Given the description of an element on the screen output the (x, y) to click on. 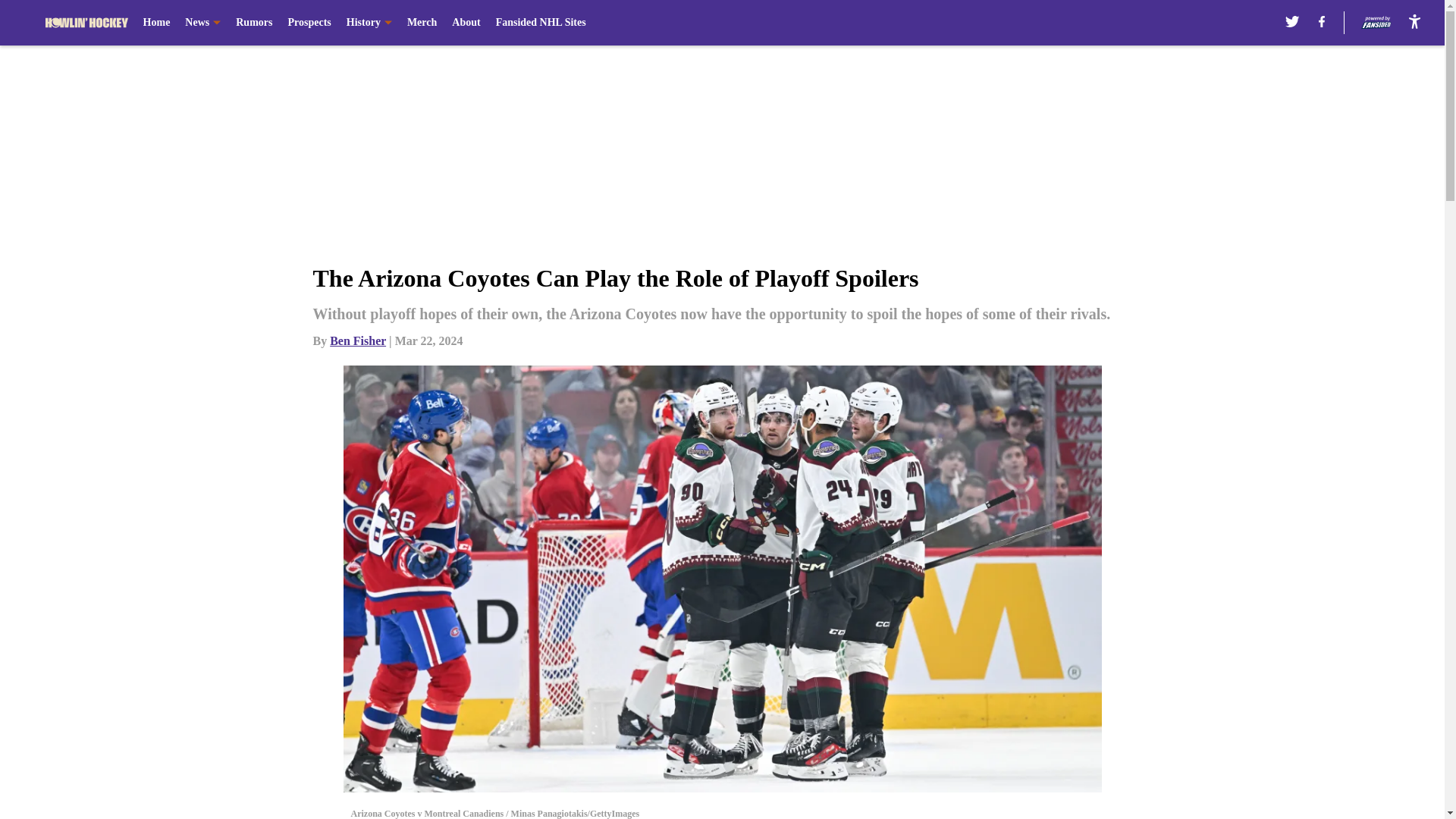
Ben Fisher (357, 340)
Rumors (253, 22)
About (465, 22)
Home (156, 22)
Fansided NHL Sites (541, 22)
Prospects (308, 22)
Merch (421, 22)
